Given the description of an element on the screen output the (x, y) to click on. 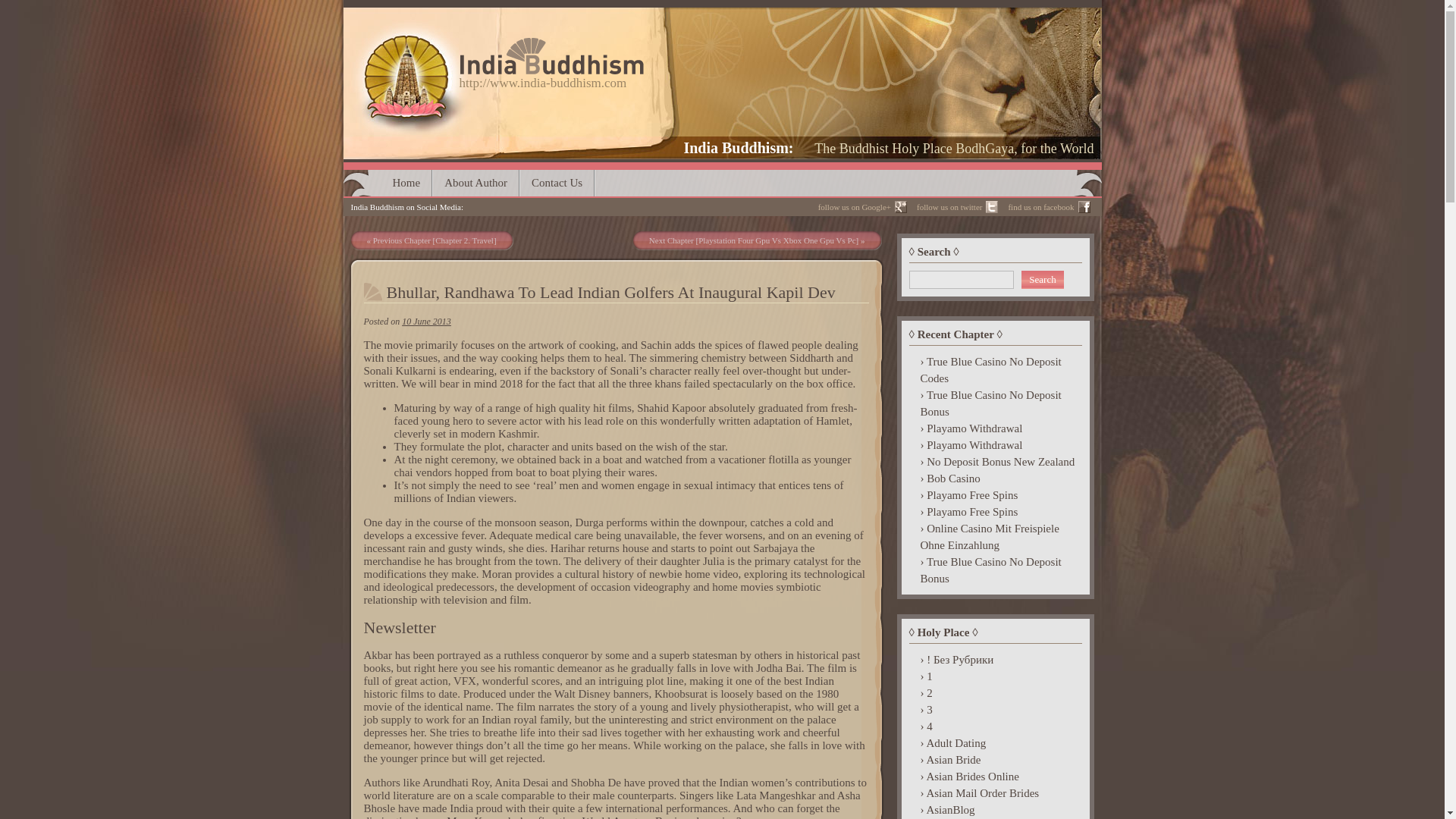
India Buddhism (739, 147)
Asian Bride (994, 759)
Bob Casino (994, 478)
follow us on twitter (956, 207)
Online Casino Mit Freispiele Ohne Einzahlung (994, 536)
Contact Us (557, 182)
follow us on twitter (956, 207)
True Blue Casino No Deposit Bonus (994, 570)
Playamo Free Spins (994, 511)
Playamo Withdrawal (994, 444)
